Given the description of an element on the screen output the (x, y) to click on. 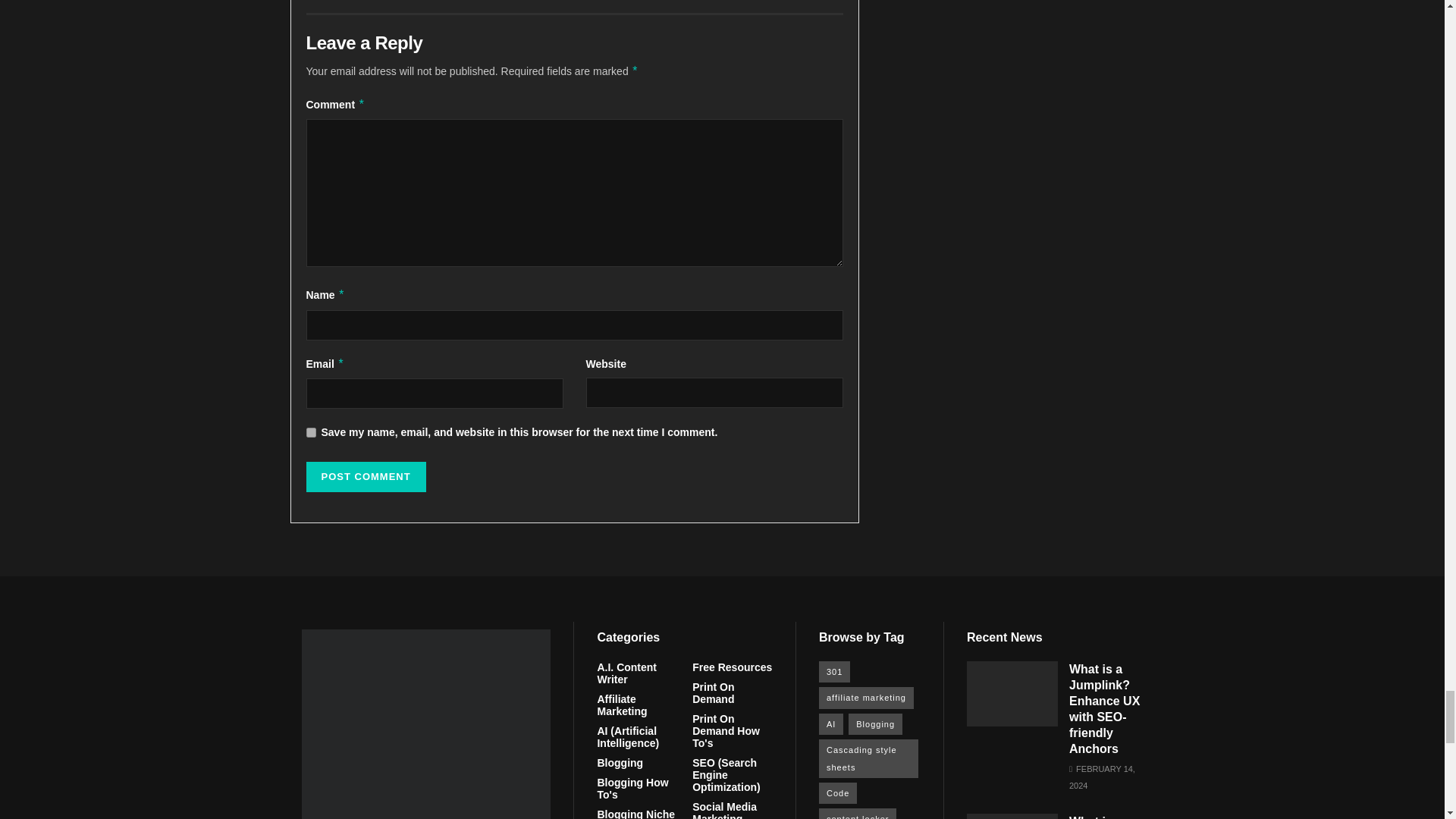
Post Comment (365, 476)
yes (310, 432)
